Given the description of an element on the screen output the (x, y) to click on. 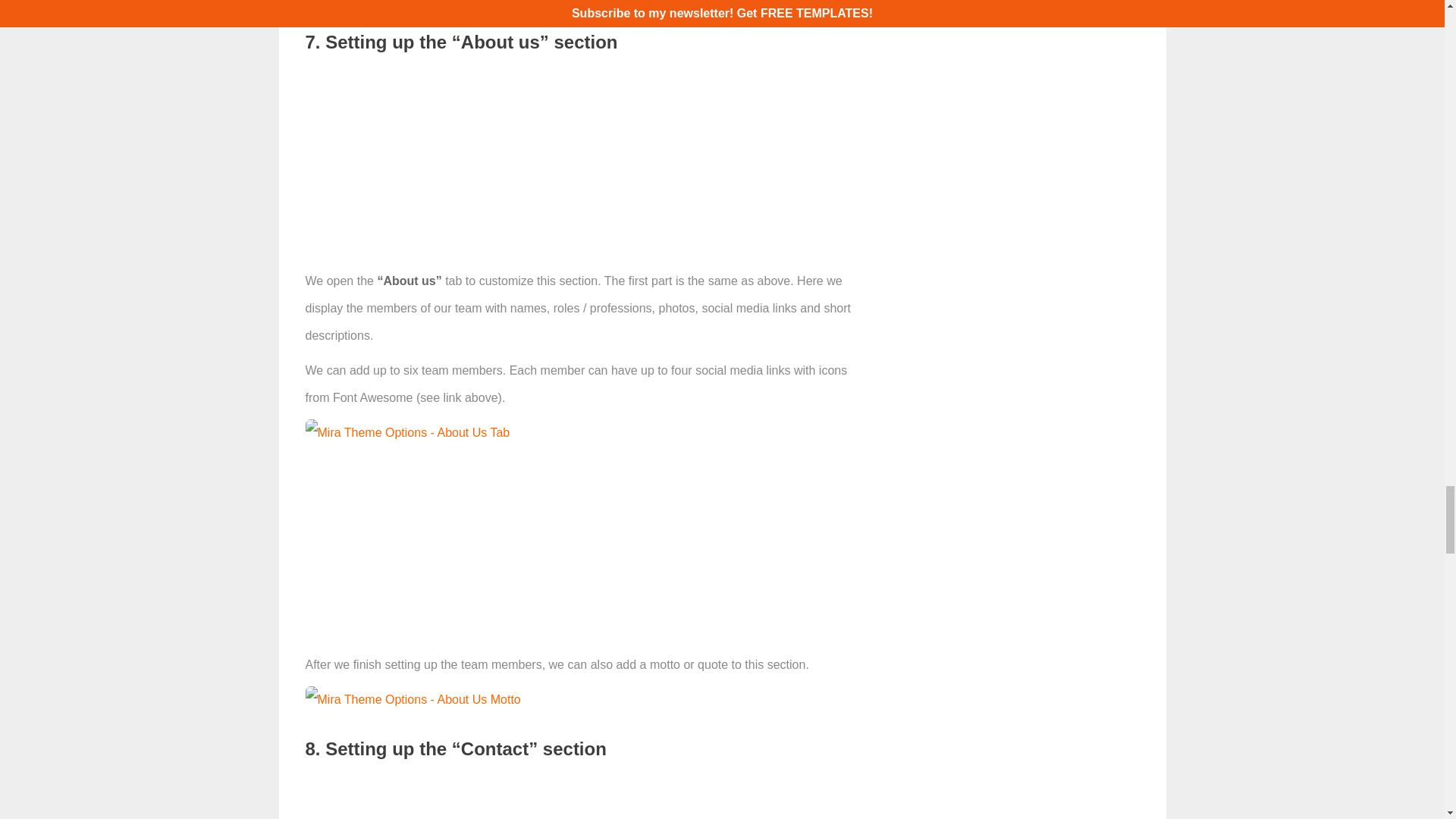
Mira Theme Options - About Us Tab (406, 432)
Mira Theme Options - About Us Motto (411, 699)
Mira Theme Options - Testimonials Tab (415, 3)
